Given the description of an element on the screen output the (x, y) to click on. 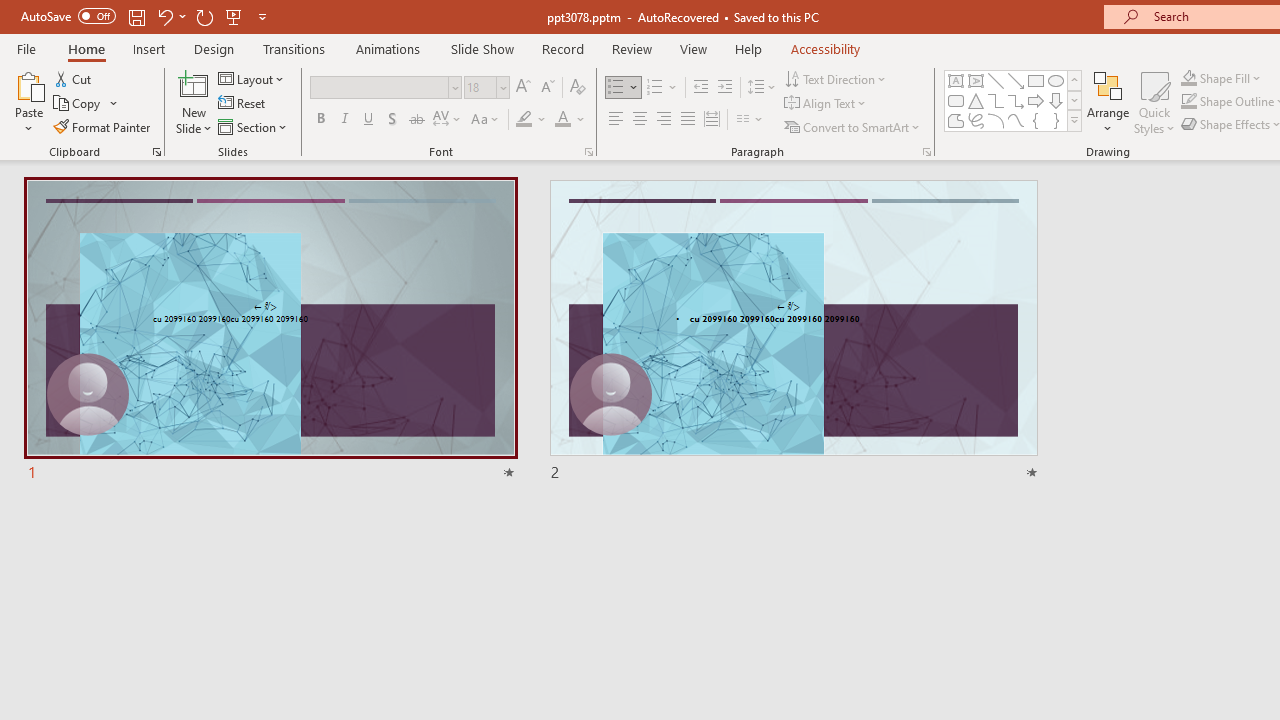
Shape Outline Green, Accent 1 (1188, 101)
